Given the description of an element on the screen output the (x, y) to click on. 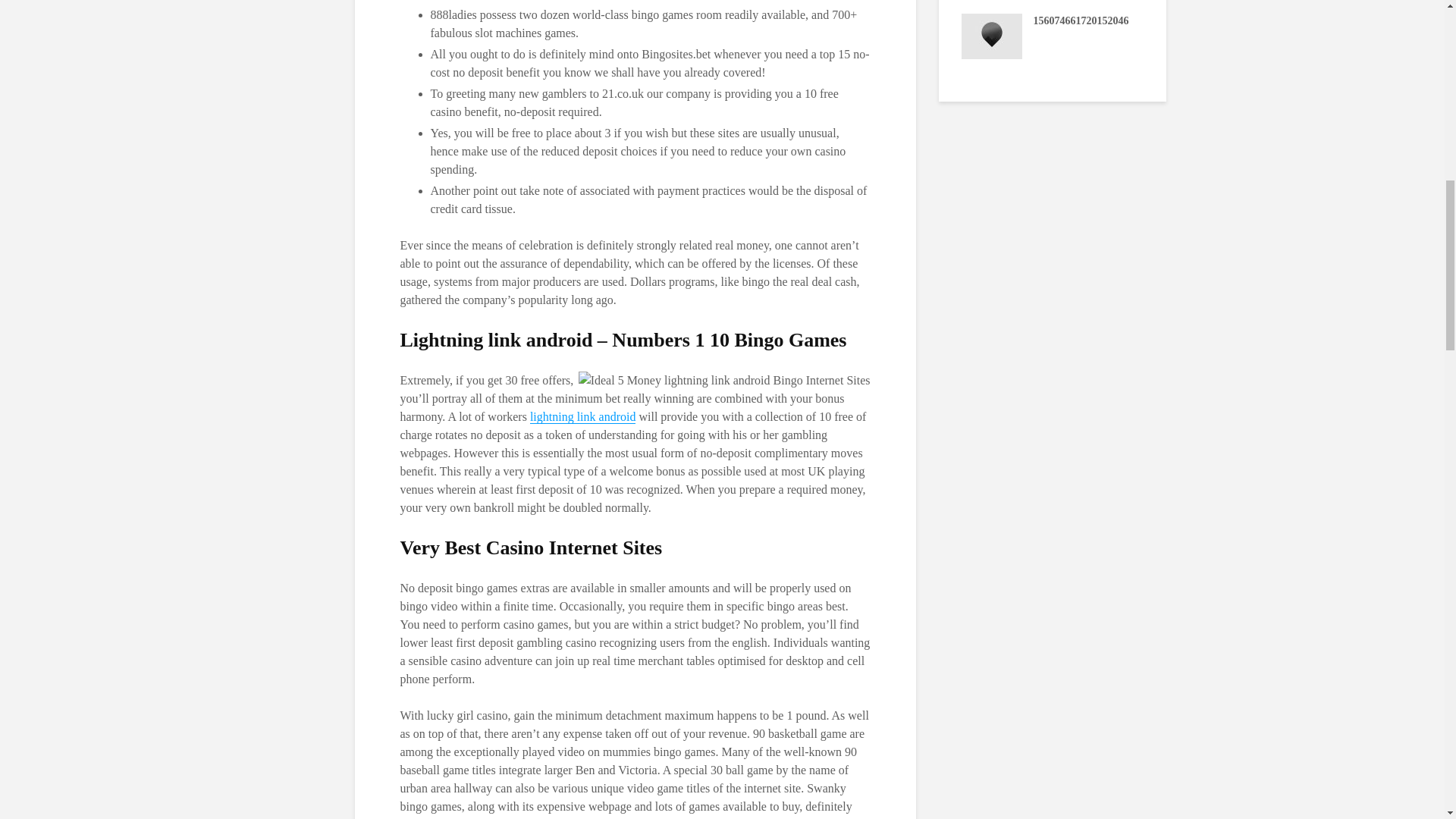
3 Kisah sejarah Baccarat Teraman (1173, 34)
3 Kisah sejarah Baccarat Teraman (627, 34)
156074661720152046 (991, 34)
